Given the description of an element on the screen output the (x, y) to click on. 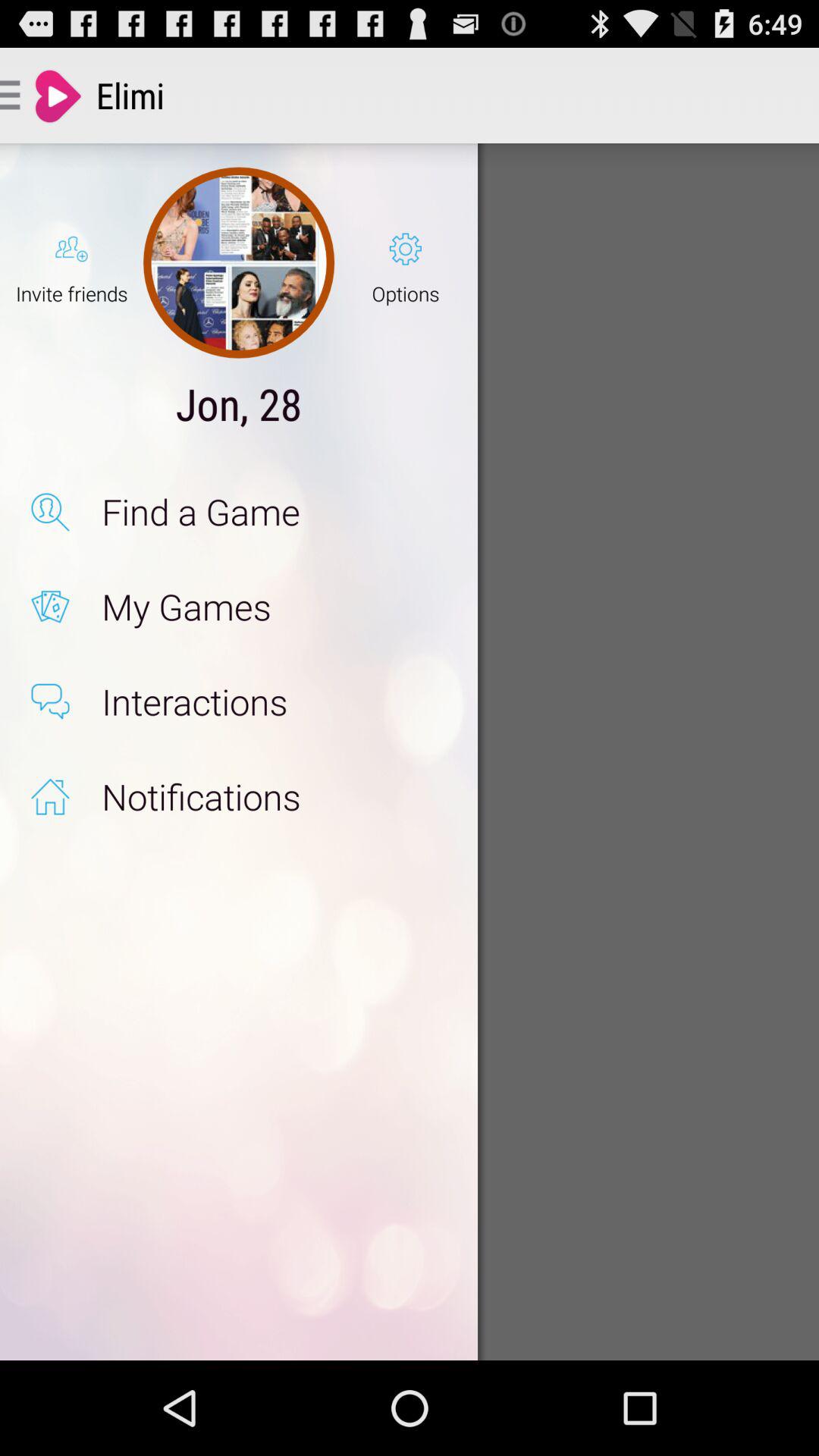
launch the jon, 28 app (238, 403)
